Given the description of an element on the screen output the (x, y) to click on. 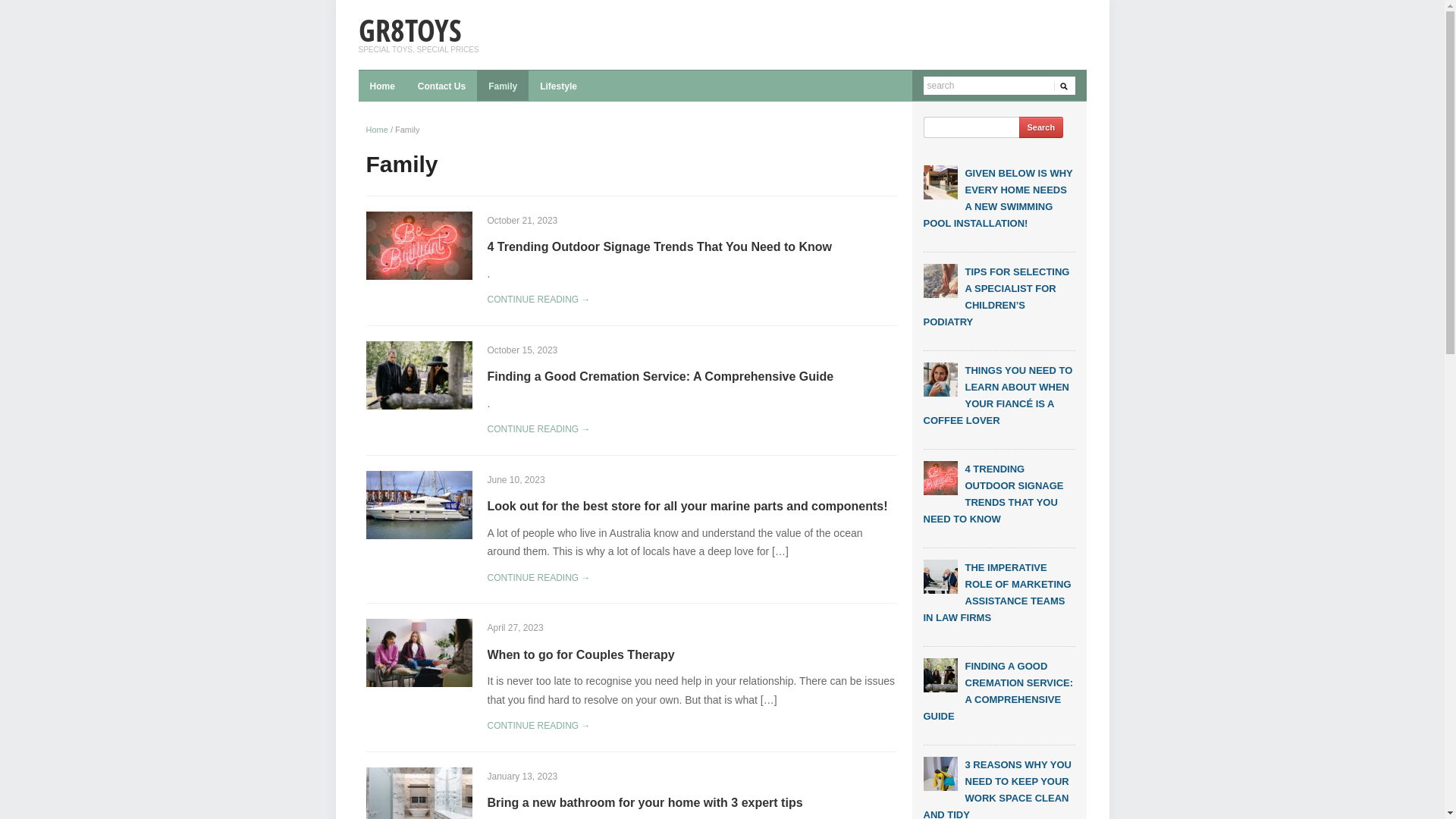
4 TRENDING OUTDOOR SIGNAGE TRENDS THAT YOU NEED TO KNOW Element type: text (993, 493)
Contact Us Element type: text (441, 85)
Lifestyle Element type: text (558, 85)
Bring  a new bathroom for your home with 3 expert tips Element type: hover (418, 801)
GR8TOYS Element type: text (409, 29)
Bring a new bathroom for your home with 3 expert tips Element type: text (644, 802)
FINDING A GOOD CREMATION SERVICE: A COMPREHENSIVE GUIDE Element type: text (998, 690)
Finding a Good Cremation Service: A Comprehensive Guide Element type: text (659, 376)
Family Element type: text (502, 85)
When to go for Couples Therapy Element type: hover (418, 652)
4 Trending Outdoor Signage Trends That You Need to Know Element type: text (658, 246)
Search Element type: text (1041, 127)
When to go for Couples Therapy Element type: text (580, 654)
Home Element type: text (376, 129)
Finding a Good Cremation Service: A Comprehensive Guide Element type: hover (940, 674)
Finding a Good Cremation Service: A Comprehensive Guide Element type: hover (418, 374)
Home Element type: text (381, 85)
4 Trending Outdoor Signage Trends That You Need to Know Element type: hover (940, 477)
4 Trending Outdoor Signage Trends That You Need to Know Element type: hover (418, 244)
